Given the description of an element on the screen output the (x, y) to click on. 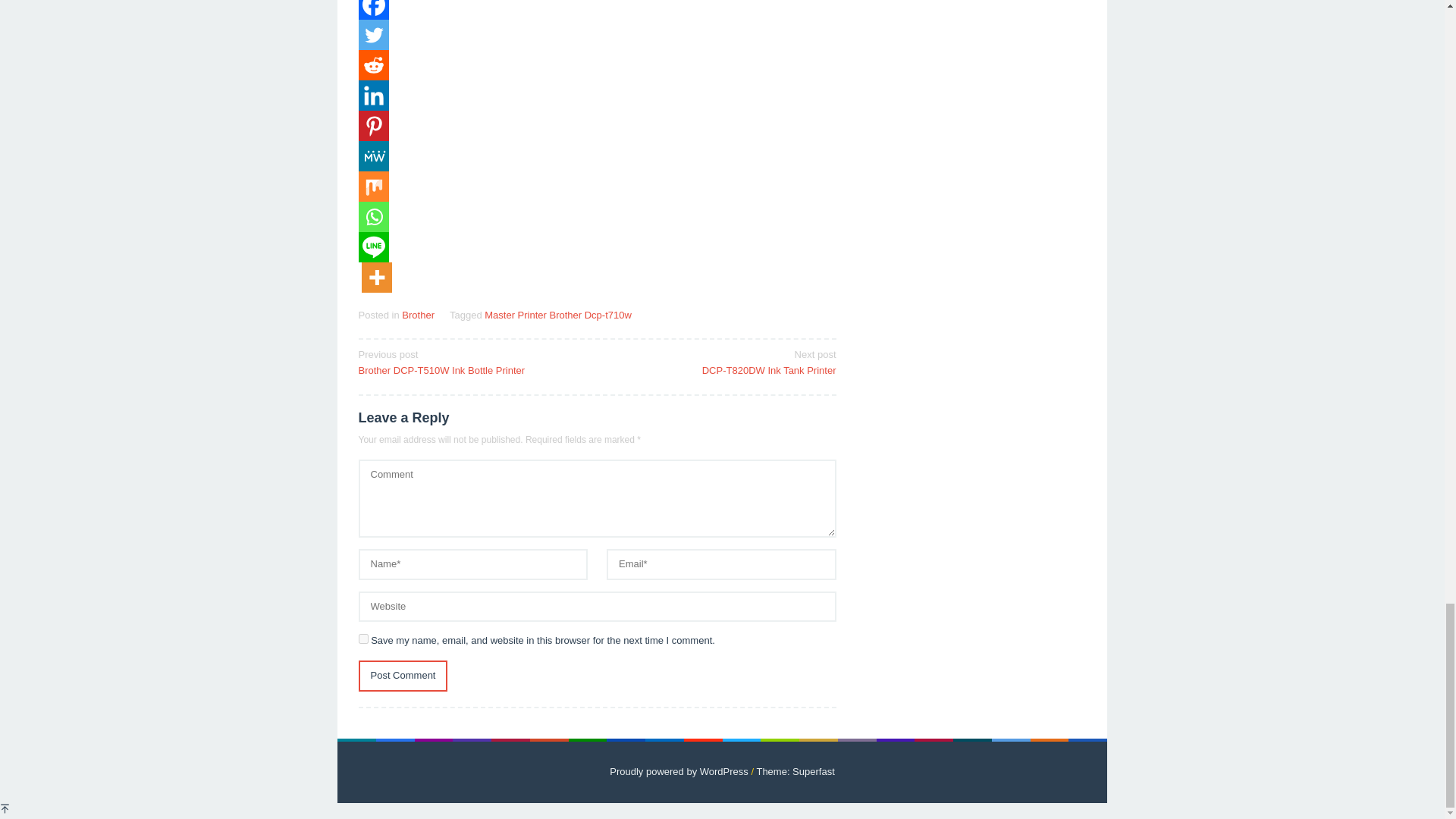
yes (363, 638)
Post Comment (402, 675)
